Given the description of an element on the screen output the (x, y) to click on. 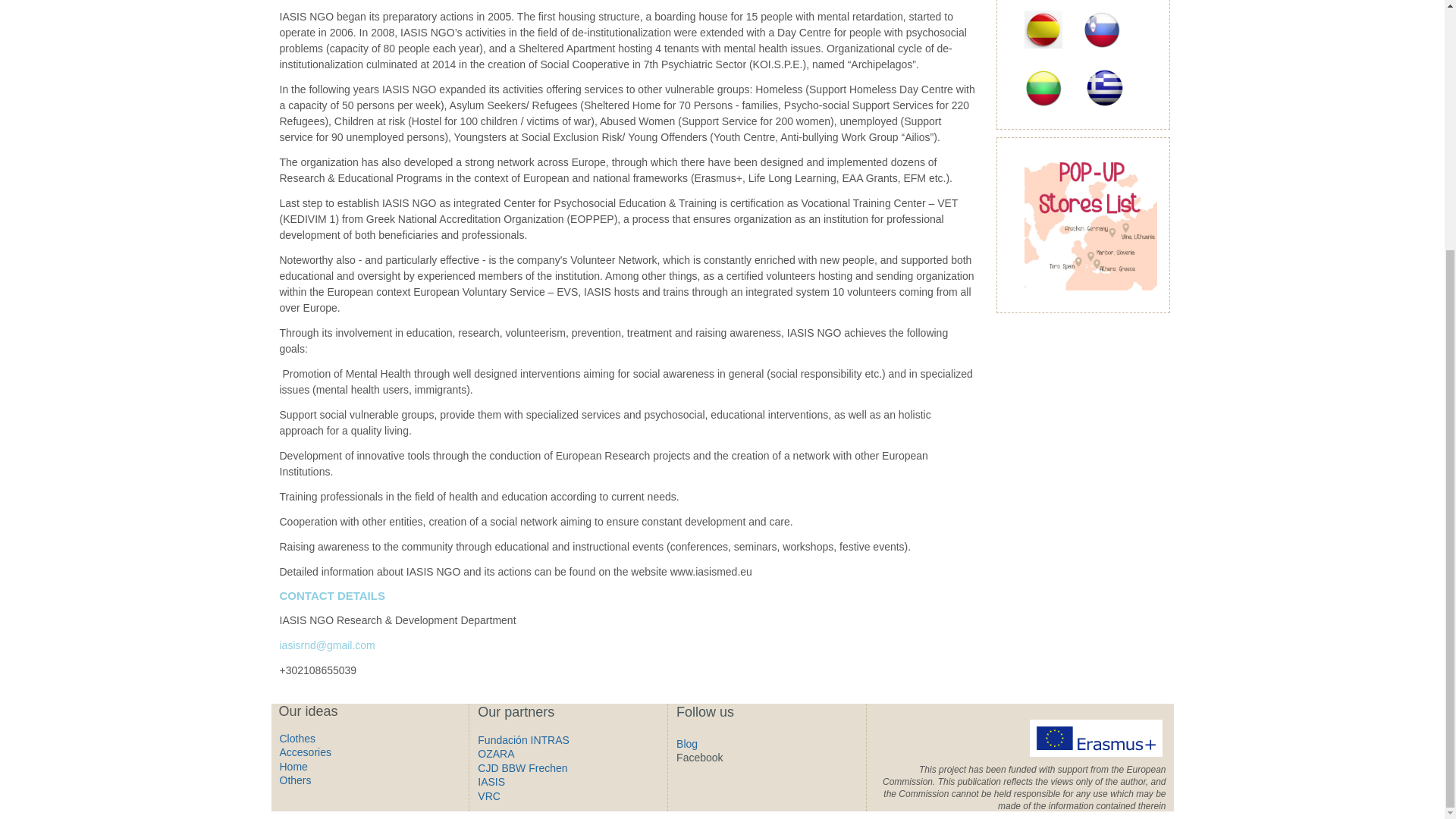
OZARA (495, 753)
Blog (687, 743)
Others (295, 779)
Home (293, 766)
CJD BBW Frechen (522, 767)
VRC (488, 796)
Accesories (304, 752)
IASIS (491, 781)
Clothes (296, 738)
